Given the description of an element on the screen output the (x, y) to click on. 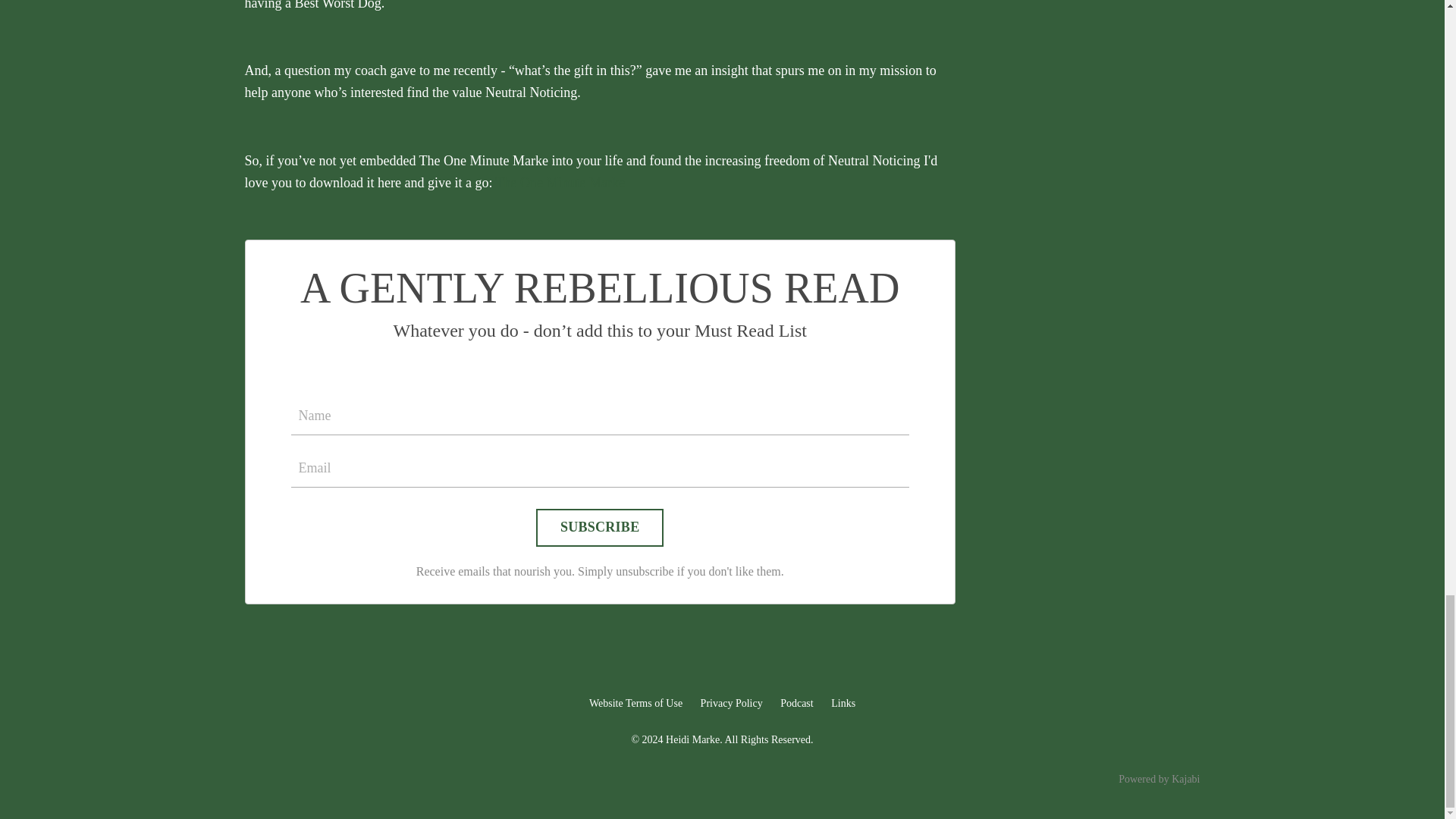
SUBSCRIBE (599, 527)
The One Minute Marke (560, 182)
Powered by Kajabi (1158, 778)
Links (843, 703)
Privacy Policy (731, 703)
SUBSCRIBE (599, 527)
Podcast (796, 703)
Website Terms of Use (635, 703)
